Given the description of an element on the screen output the (x, y) to click on. 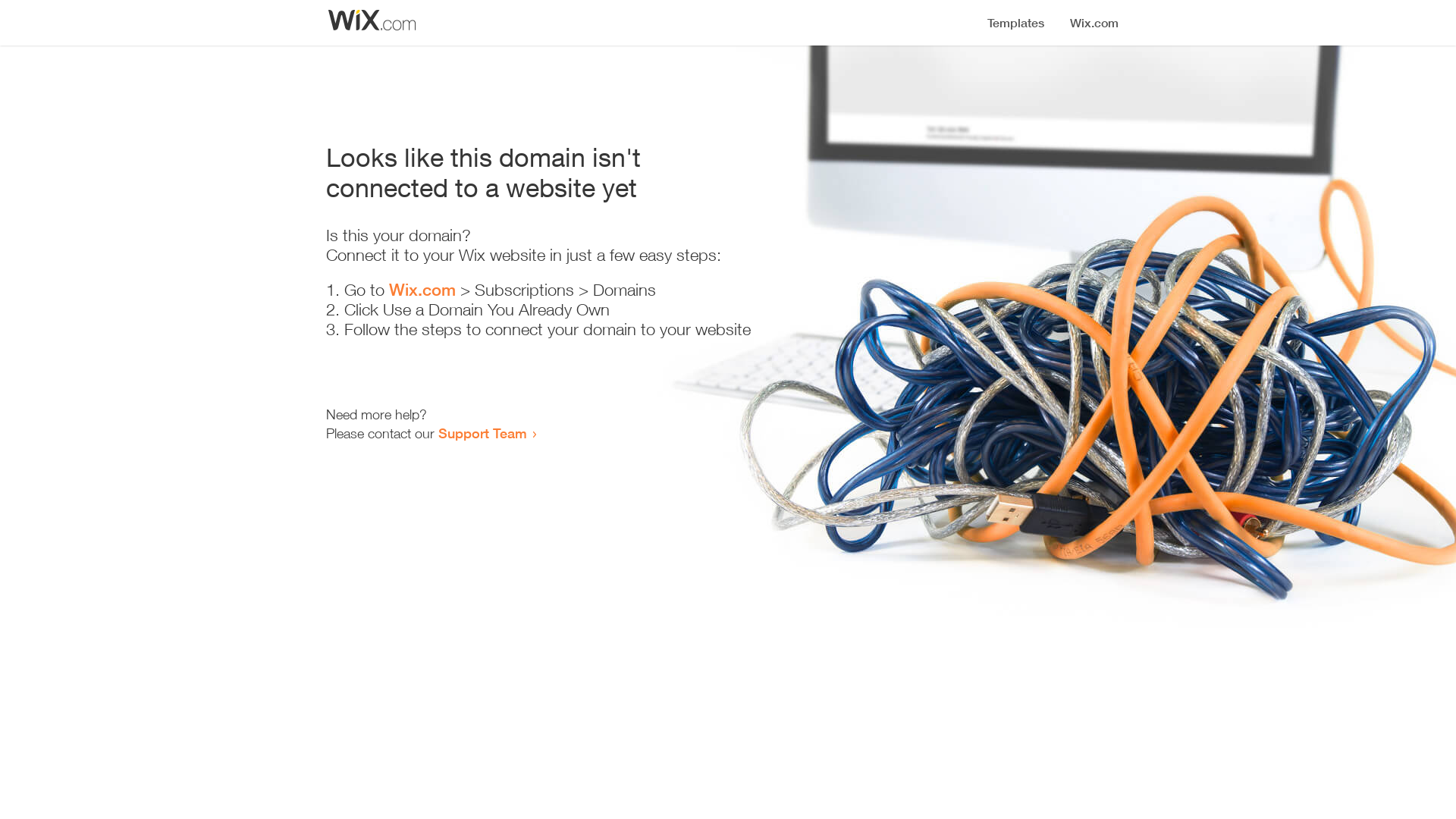
Wix.com Element type: text (422, 289)
Support Team Element type: text (482, 432)
